Given the description of an element on the screen output the (x, y) to click on. 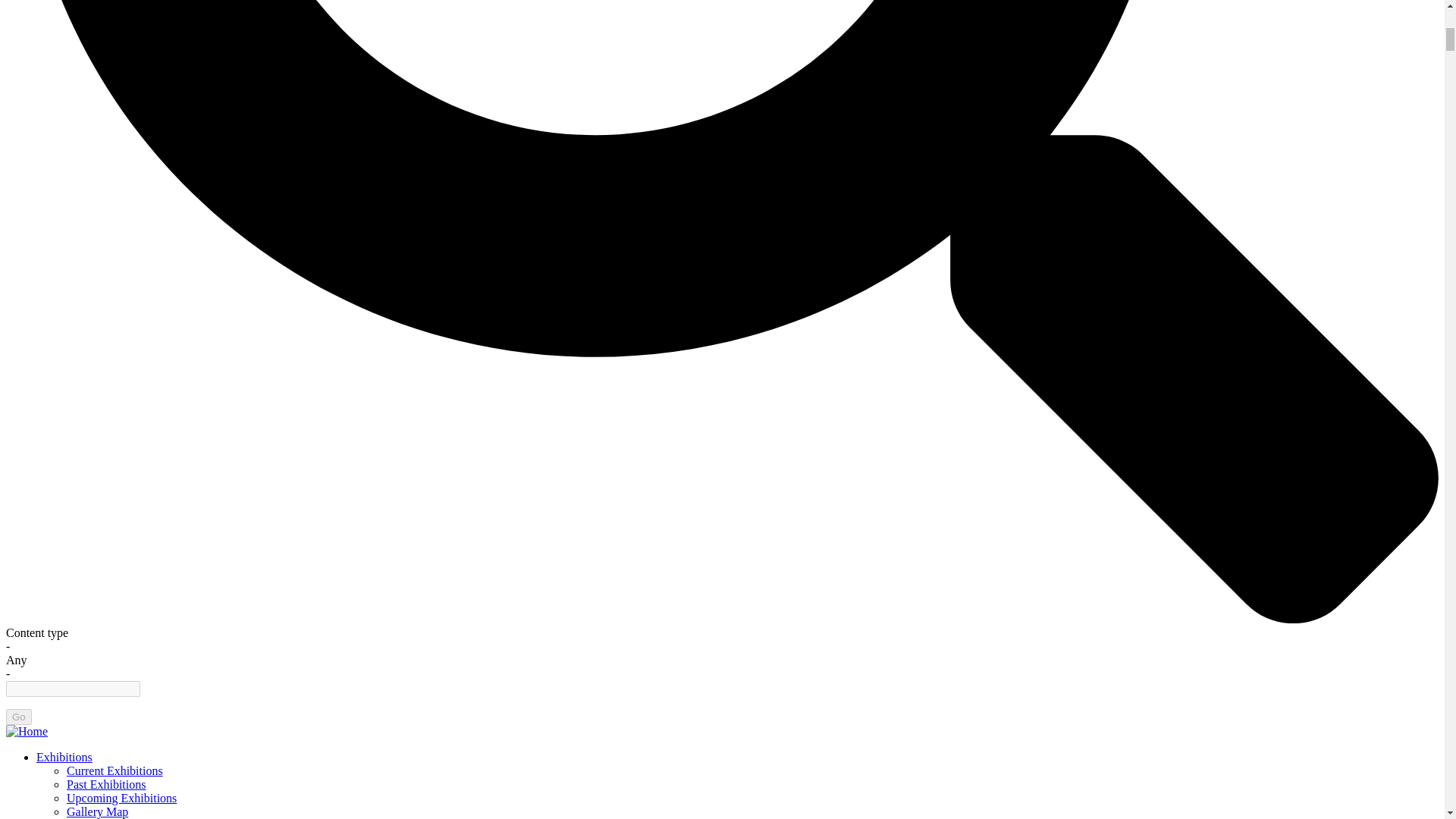
Gallery Map (97, 811)
Exhibitions (64, 757)
Past Exhibitions (105, 784)
Go (18, 716)
Upcoming Exhibitions (121, 797)
Go (18, 716)
Current Exhibitions (114, 770)
Home (26, 730)
